Given the description of an element on the screen output the (x, y) to click on. 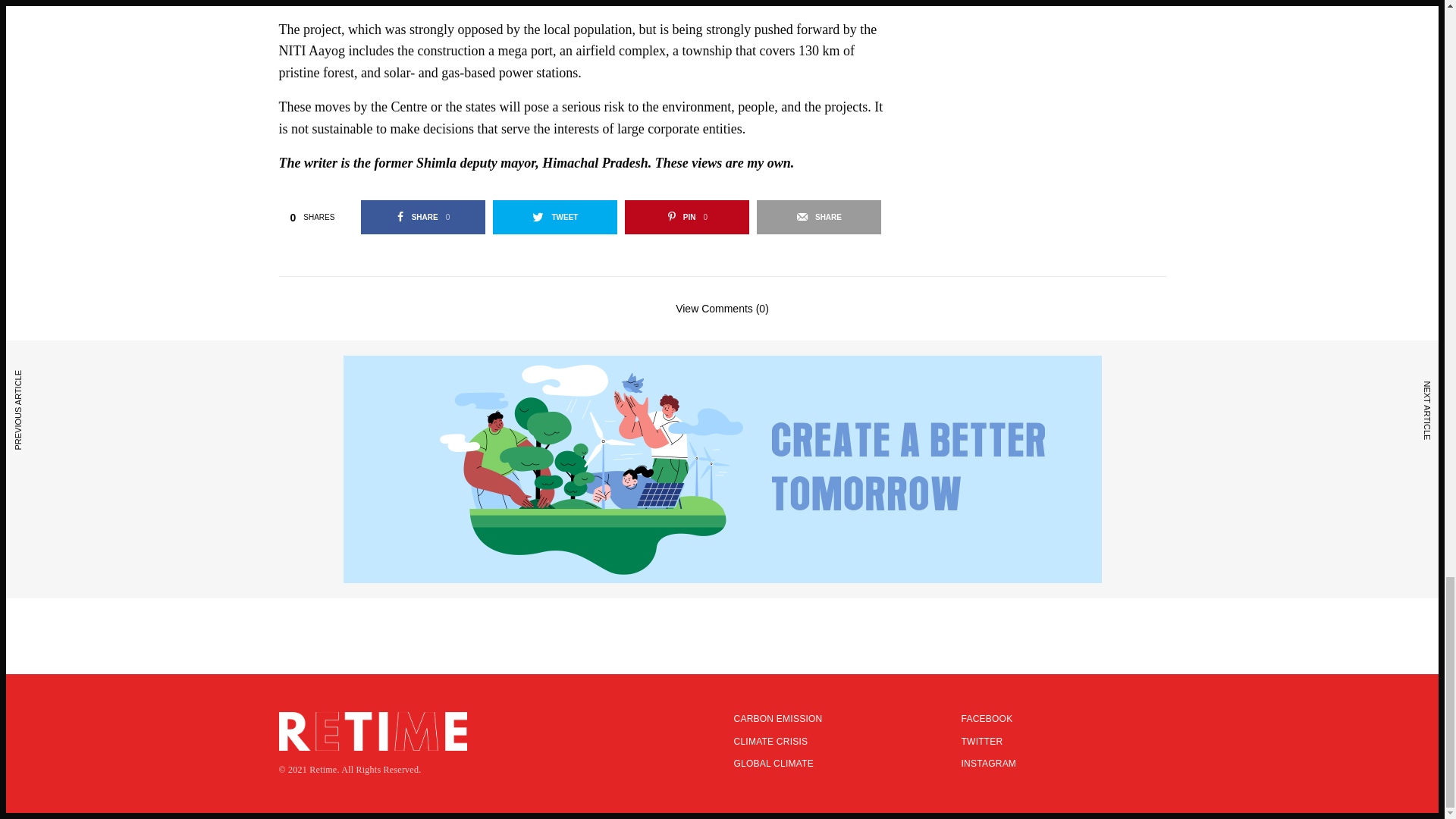
TWEET (555, 216)
